Given the description of an element on the screen output the (x, y) to click on. 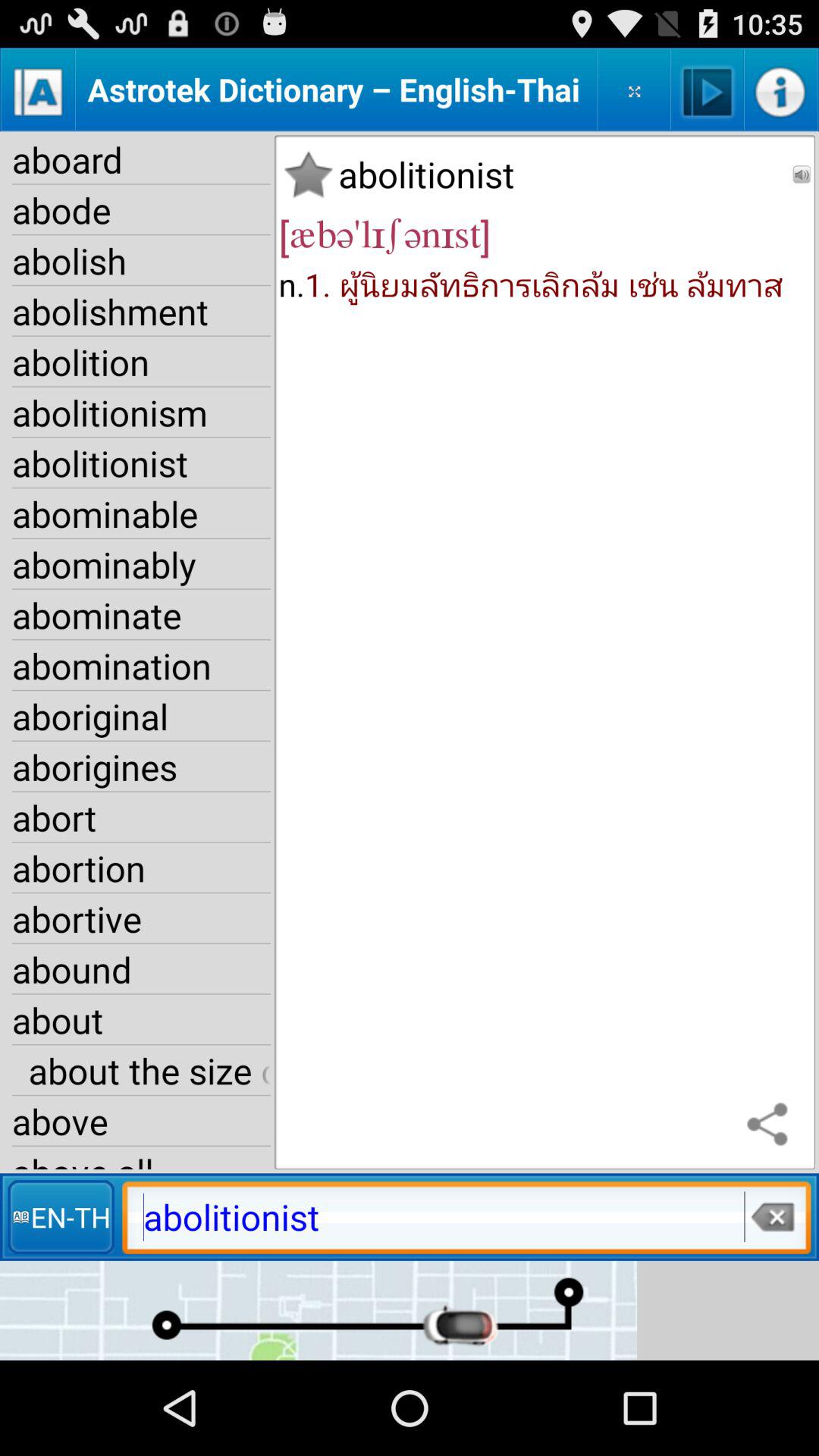
launch item next to en-th item (771, 1216)
